Given the description of an element on the screen output the (x, y) to click on. 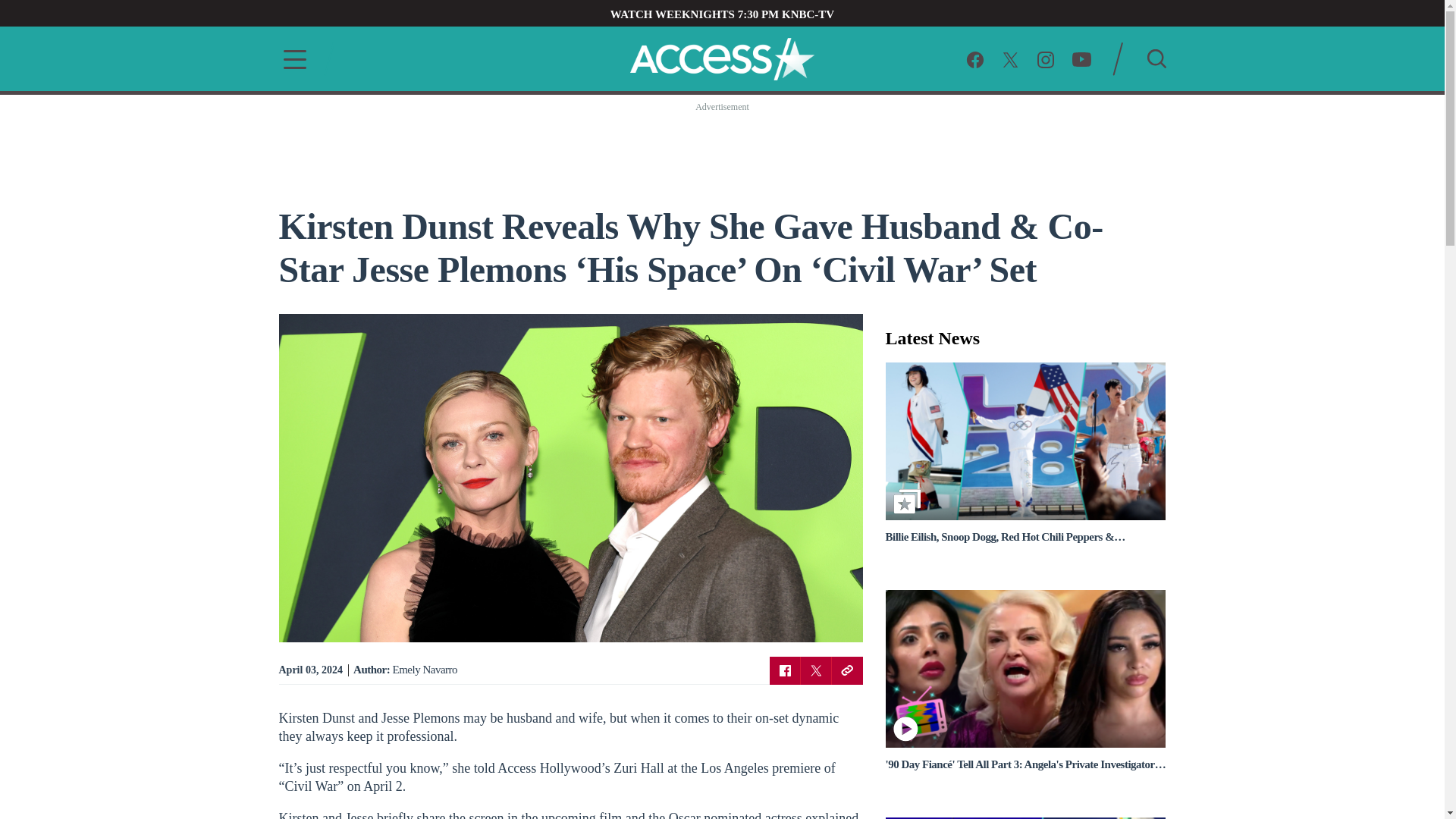
Facebook (783, 669)
Youtube (1080, 58)
Facebook (975, 58)
Main navigation (290, 59)
Twitter (815, 669)
Copy URL (846, 669)
SEARCH (1156, 58)
Twitter (1010, 58)
Instagram (1045, 58)
